Given the description of an element on the screen output the (x, y) to click on. 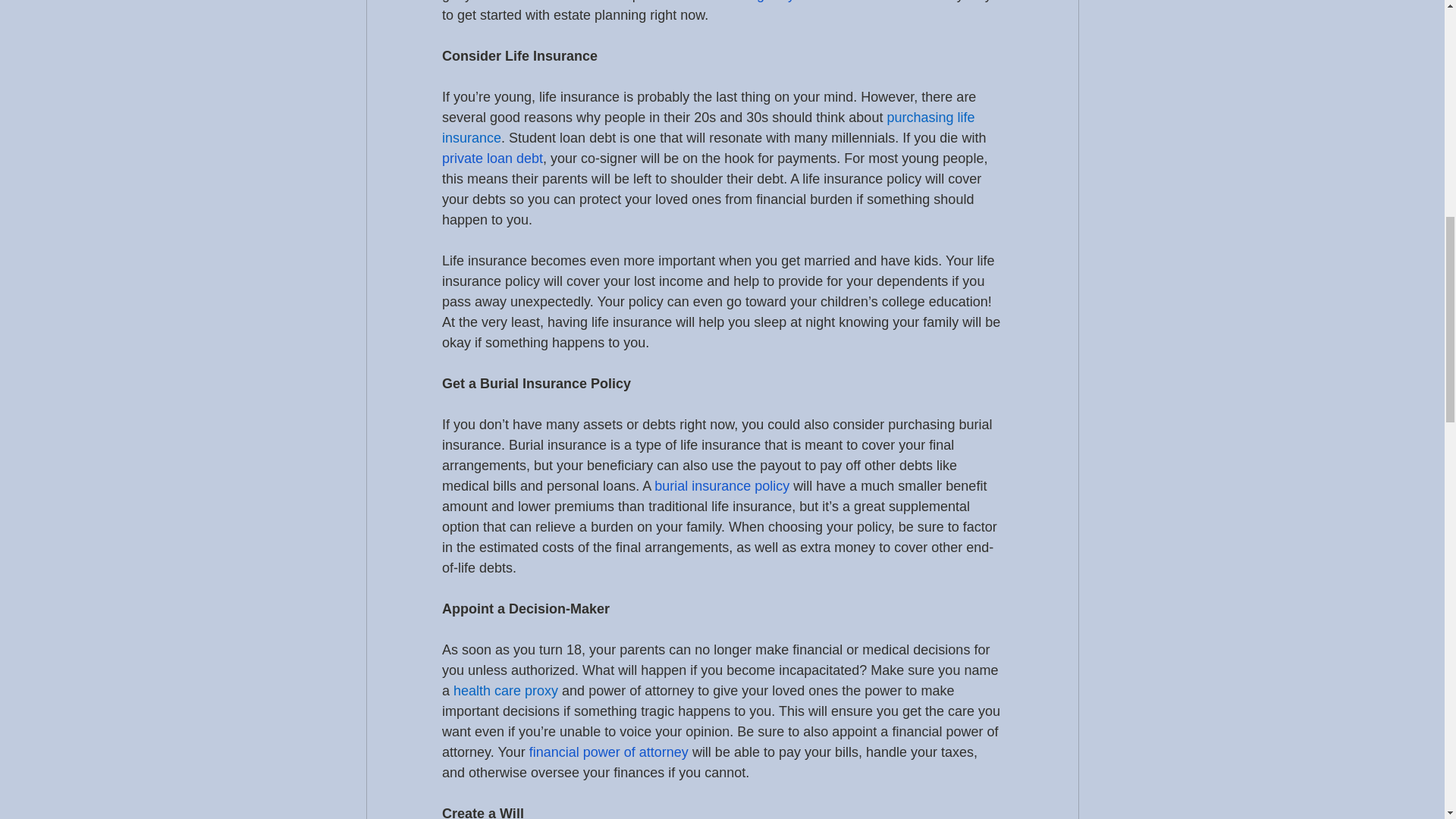
financial power of attorney (607, 752)
Melissa Dougherty Anderson (768, 1)
purchasing life insurance (708, 127)
burial insurance policy (721, 485)
private loan debt (491, 158)
health care proxy (504, 690)
